Given the description of an element on the screen output the (x, y) to click on. 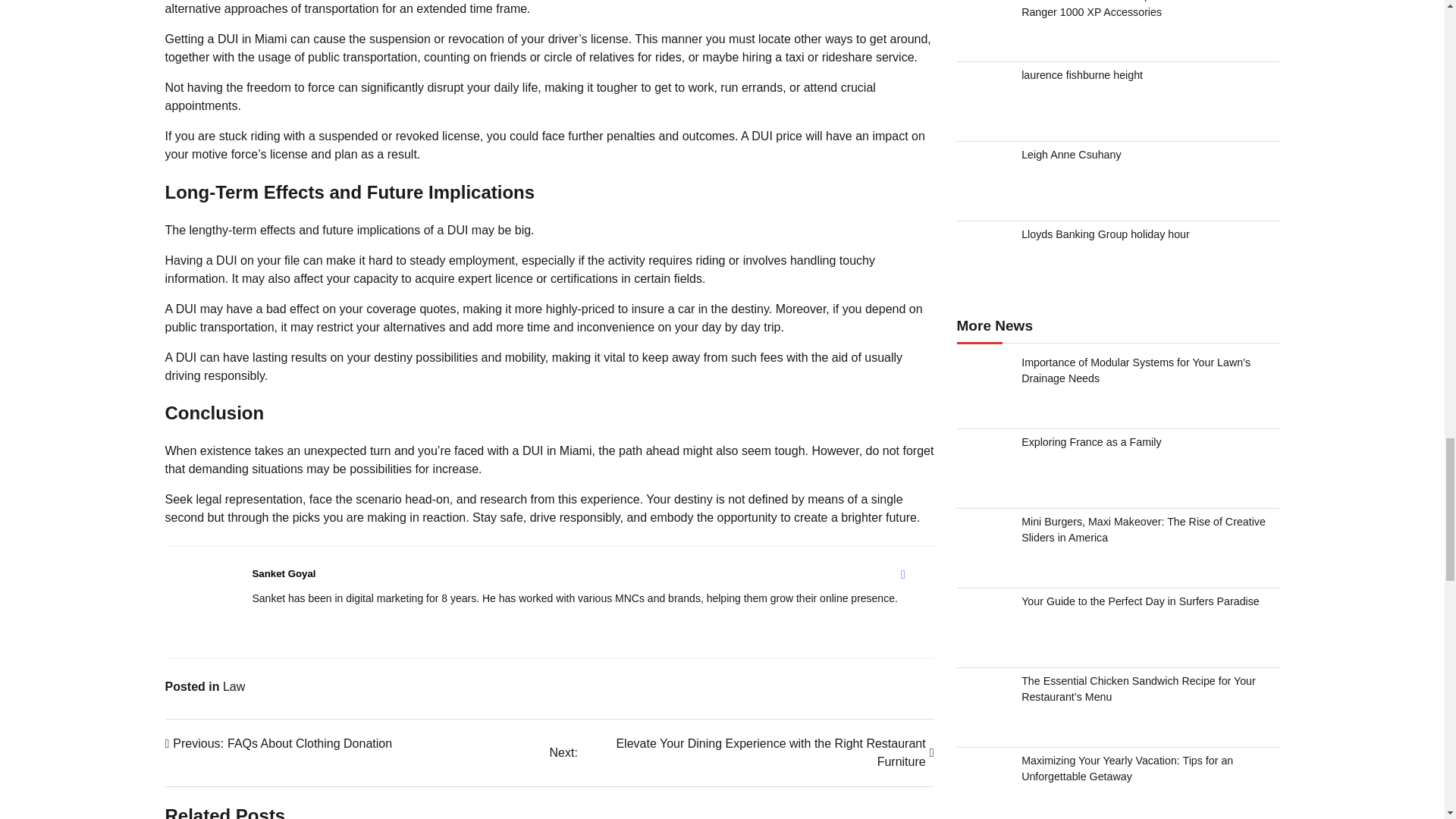
Law (279, 743)
